Given the description of an element on the screen output the (x, y) to click on. 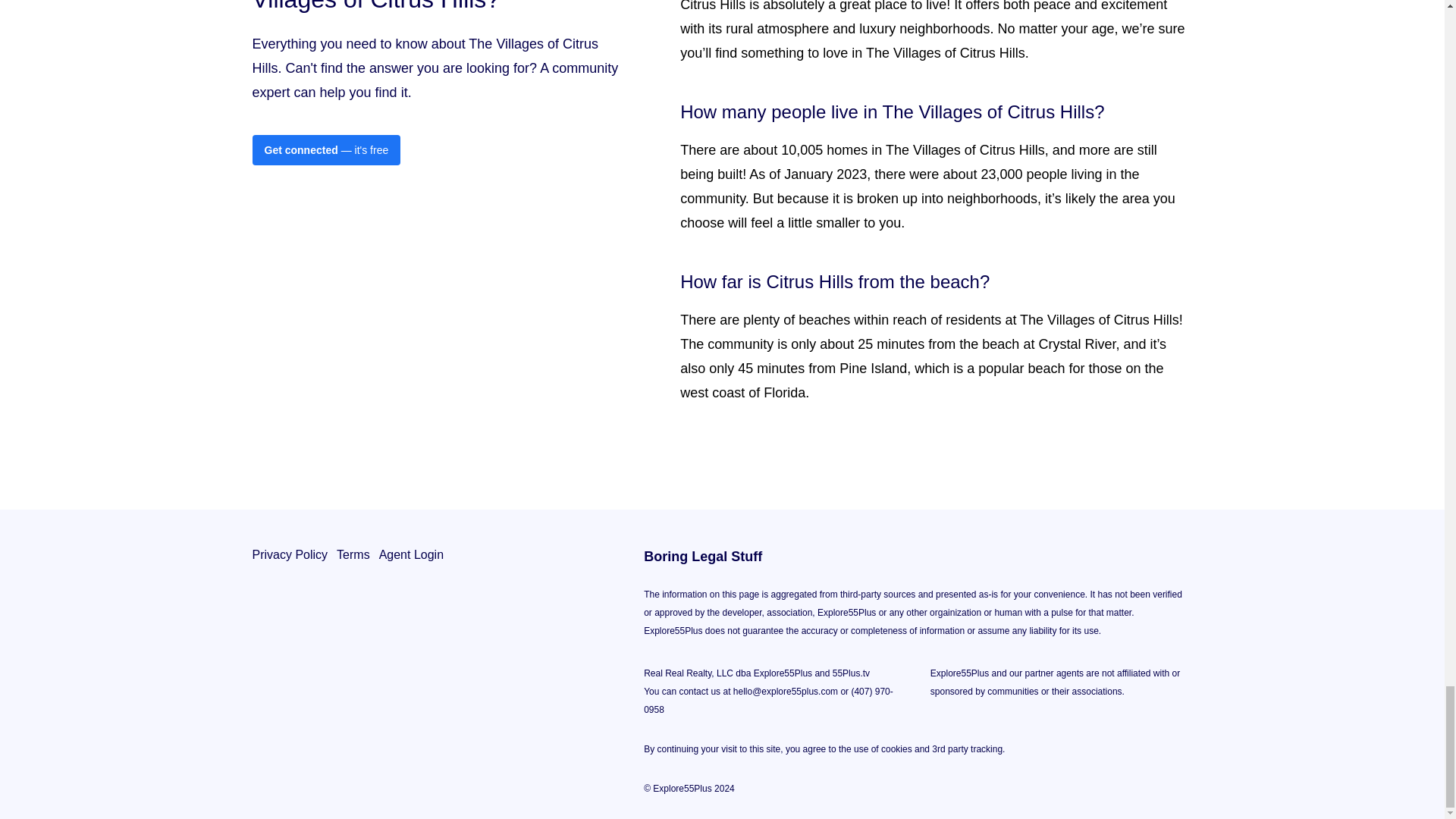
Terms (352, 670)
Privacy Policy (289, 670)
Agent Login (411, 670)
